Given the description of an element on the screen output the (x, y) to click on. 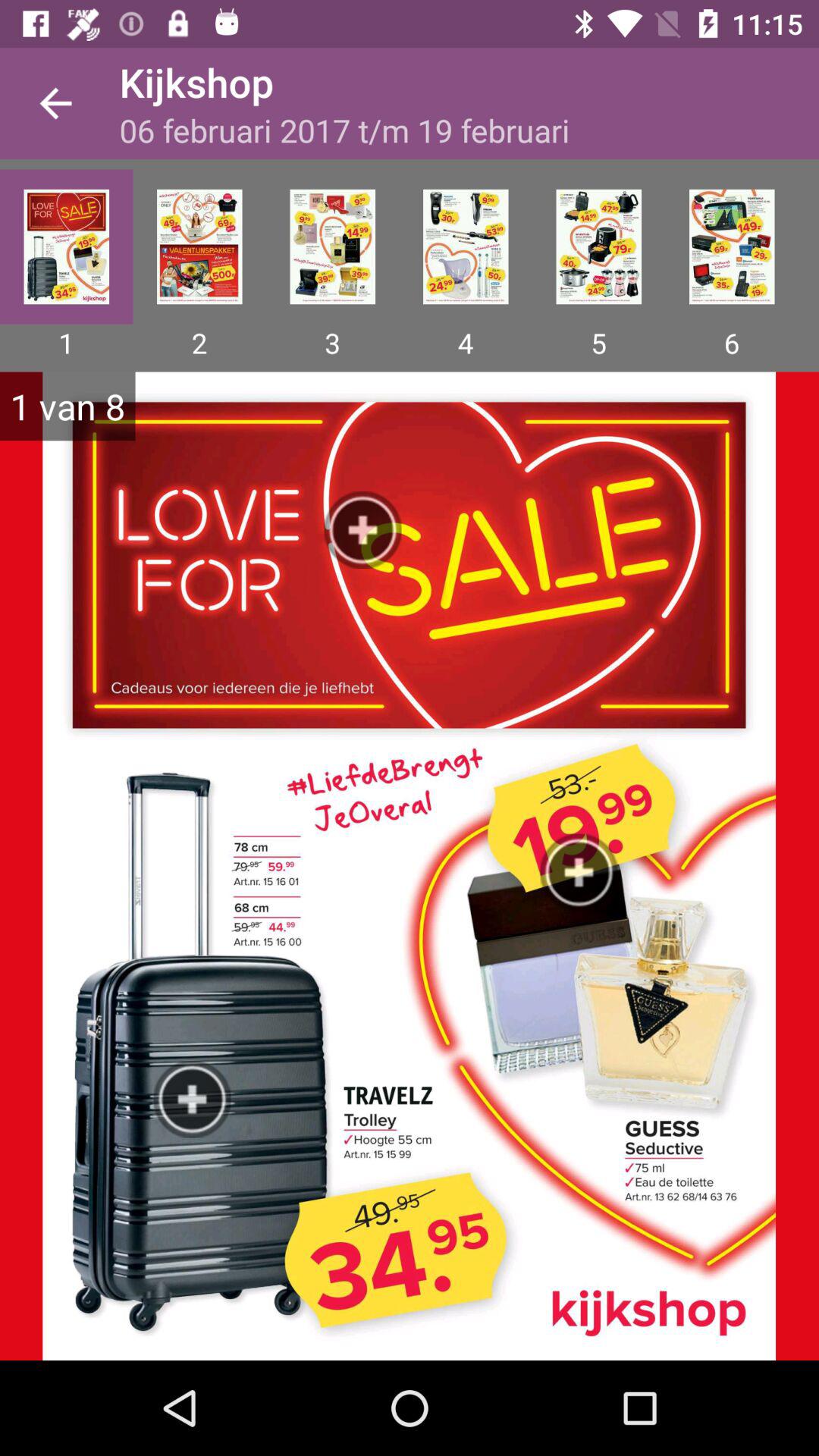
select photo (332, 246)
